Given the description of an element on the screen output the (x, y) to click on. 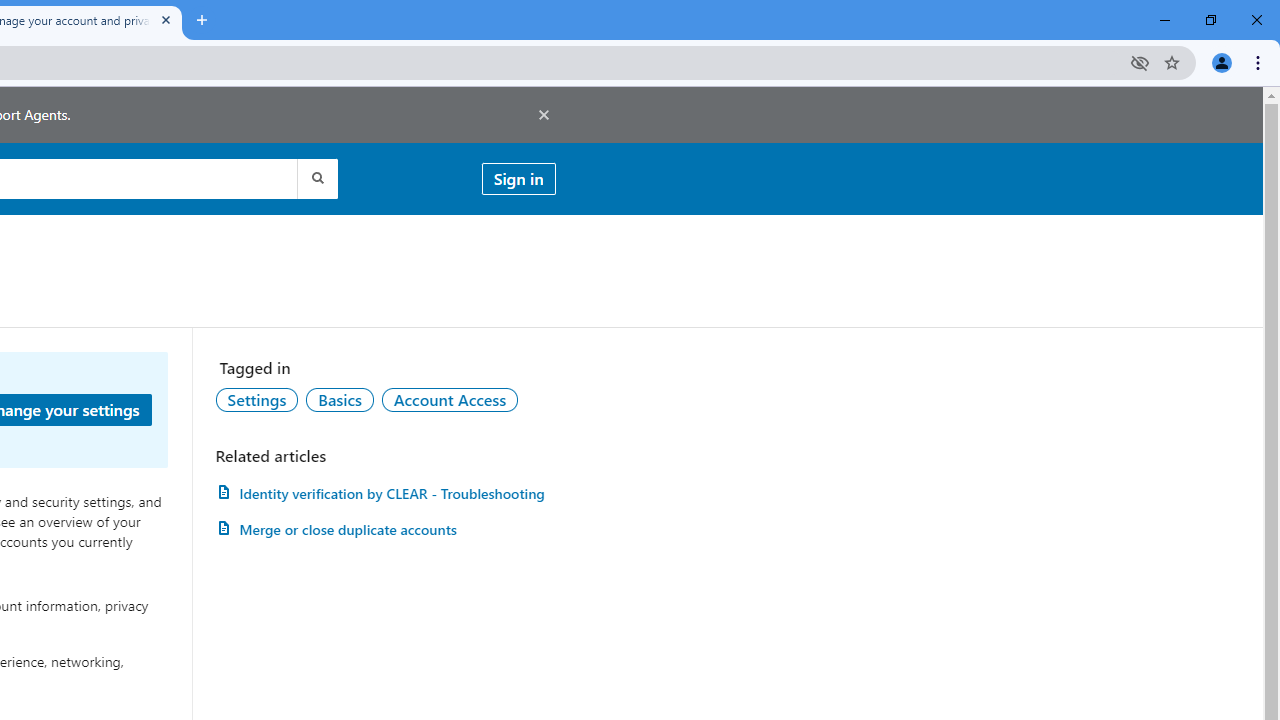
AutomationID: topic-link-a149001 (257, 399)
